Given the description of an element on the screen output the (x, y) to click on. 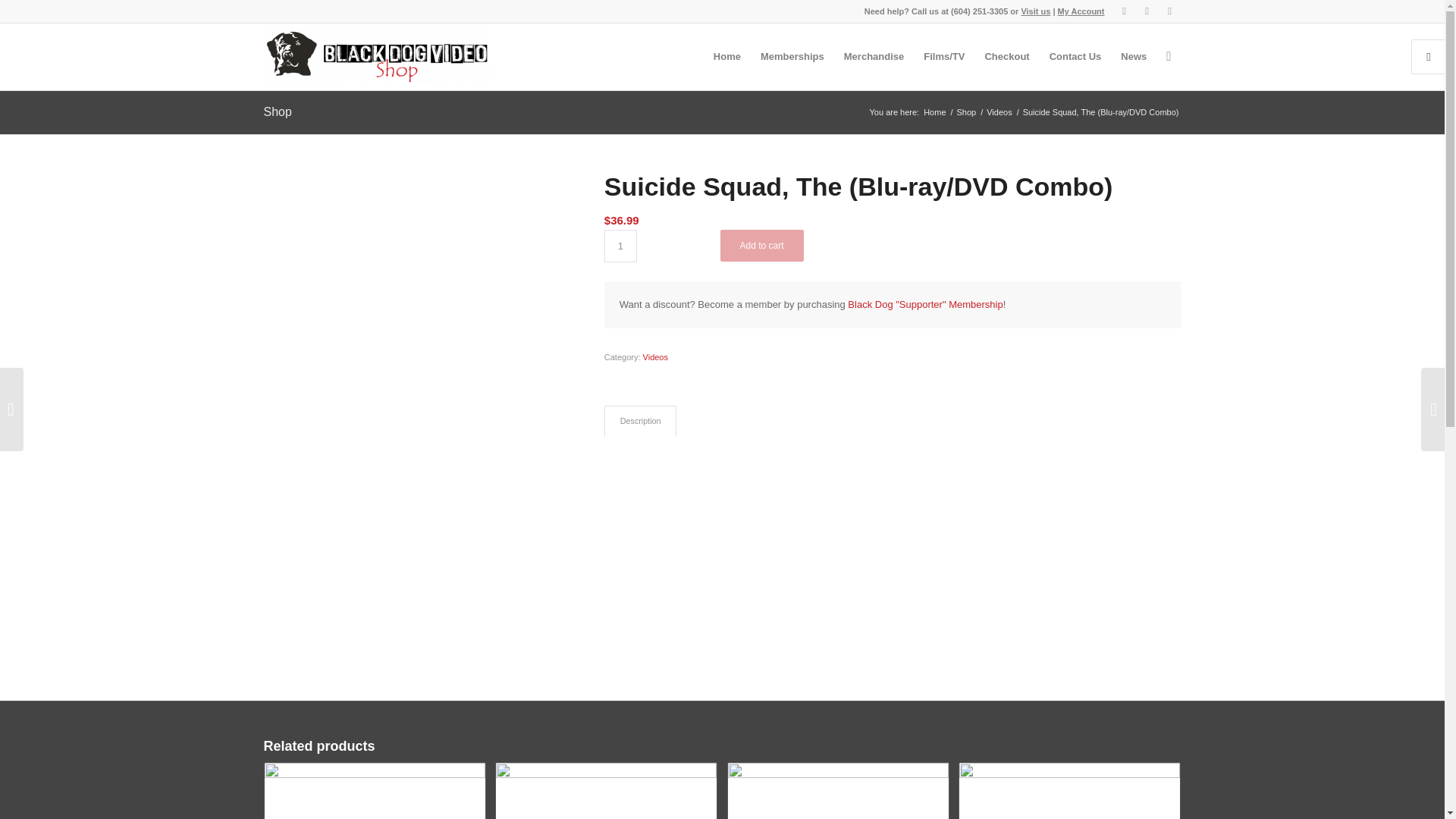
Contact Us (1075, 56)
Visit us (1034, 10)
Checkout (1006, 56)
Shop (277, 111)
Shop (966, 112)
My Account (1081, 10)
Black Dog Video Shop (934, 112)
Videos (998, 112)
Add to cart (761, 245)
Home (934, 112)
Videos (998, 112)
Twitter (1124, 11)
Instagram (1146, 11)
Permanent Link: Shop (277, 111)
Memberships (792, 56)
